Given the description of an element on the screen output the (x, y) to click on. 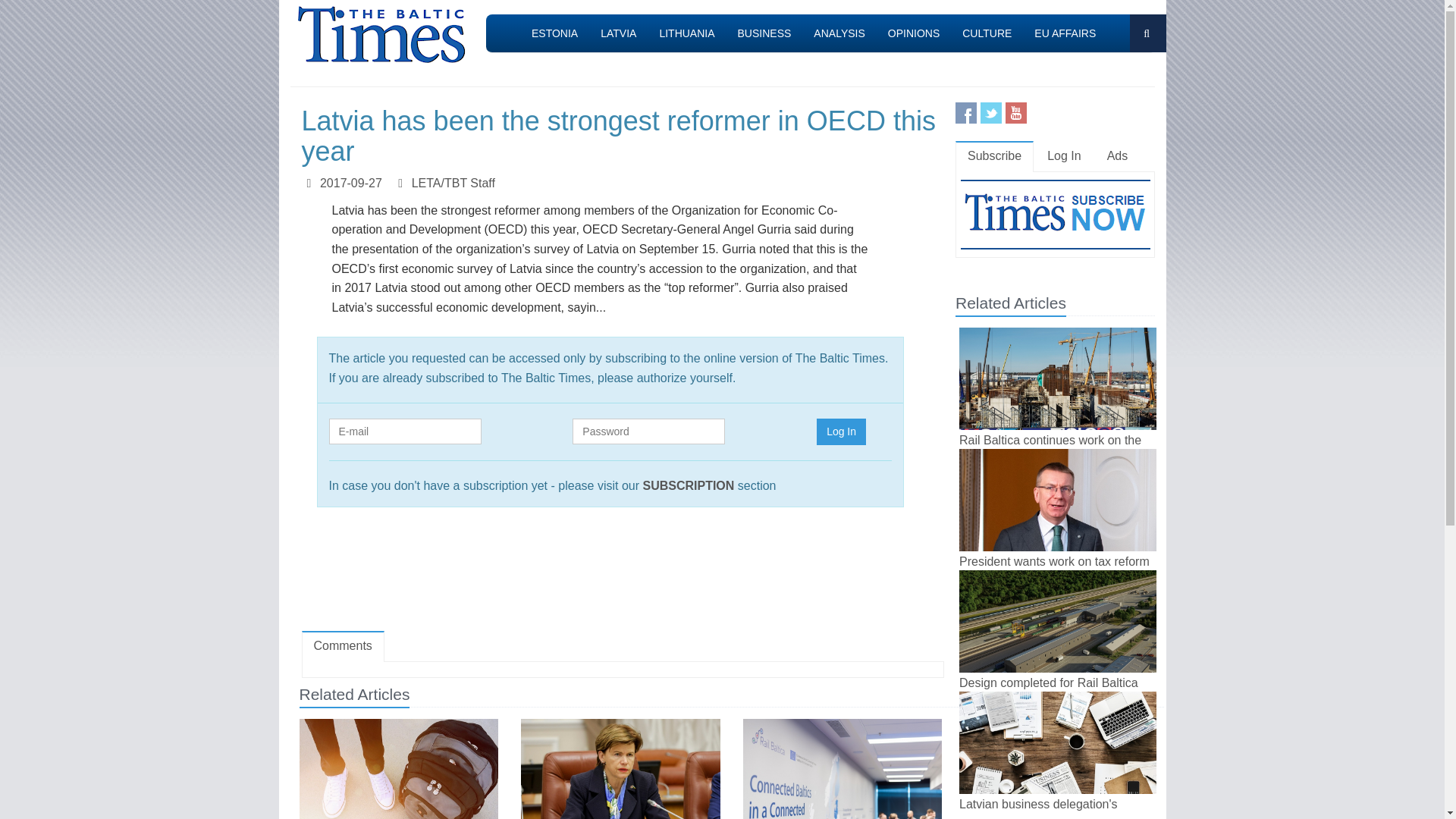
LATVIA (618, 33)
CULTURE (986, 33)
Advertisement (622, 576)
BUSINESS (764, 33)
SUBSCRIPTION (687, 485)
OPINIONS (913, 33)
LITHUANIA (686, 33)
Comments (342, 645)
ESTONIA (554, 33)
Log In (841, 431)
